Given the description of an element on the screen output the (x, y) to click on. 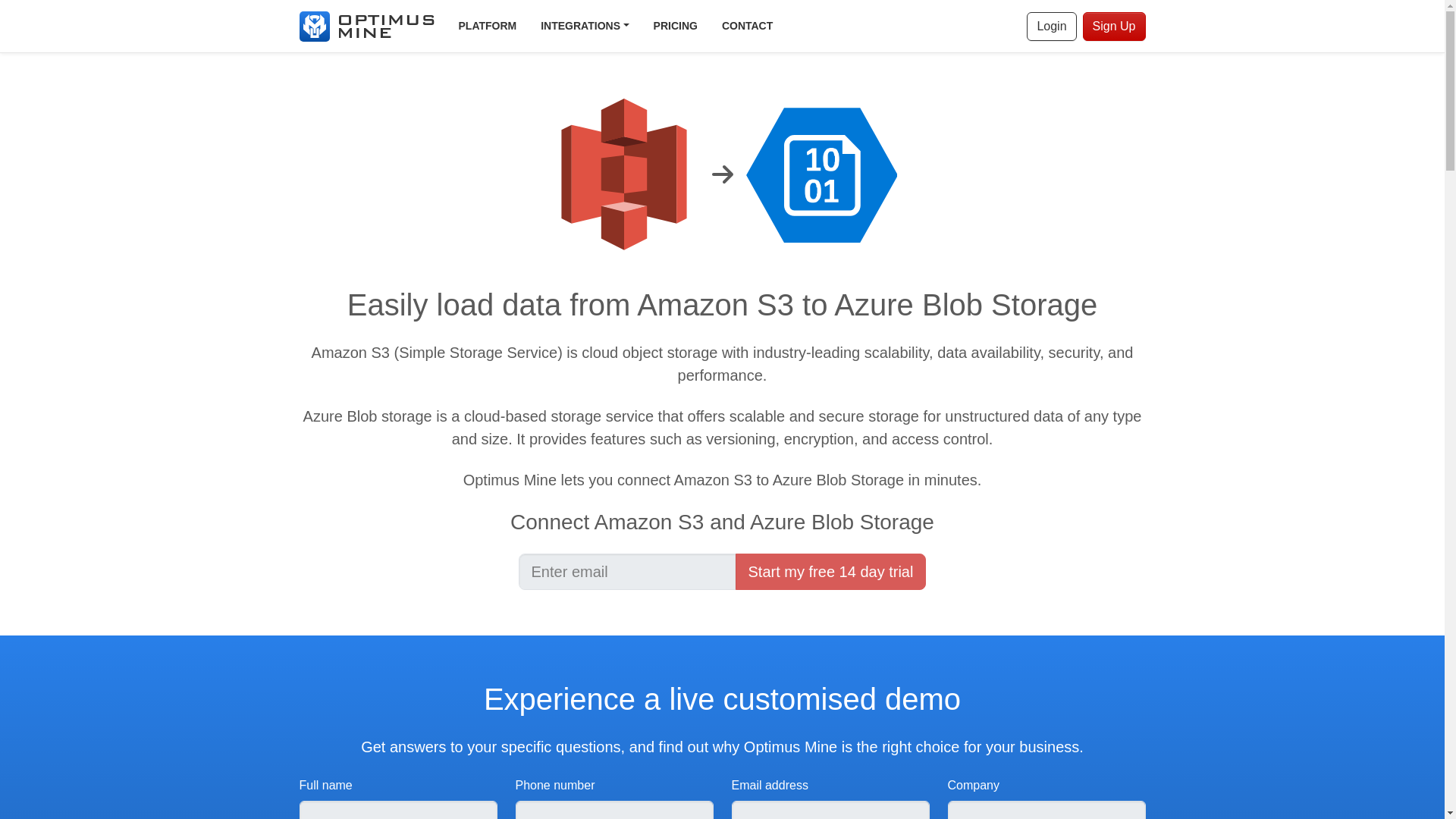
PRICING (676, 26)
Start my free 14 day trial (830, 571)
Sign Up (1114, 26)
Login (1050, 26)
INTEGRATIONS (584, 26)
CONTACT (747, 26)
PLATFORM (486, 26)
